Given the description of an element on the screen output the (x, y) to click on. 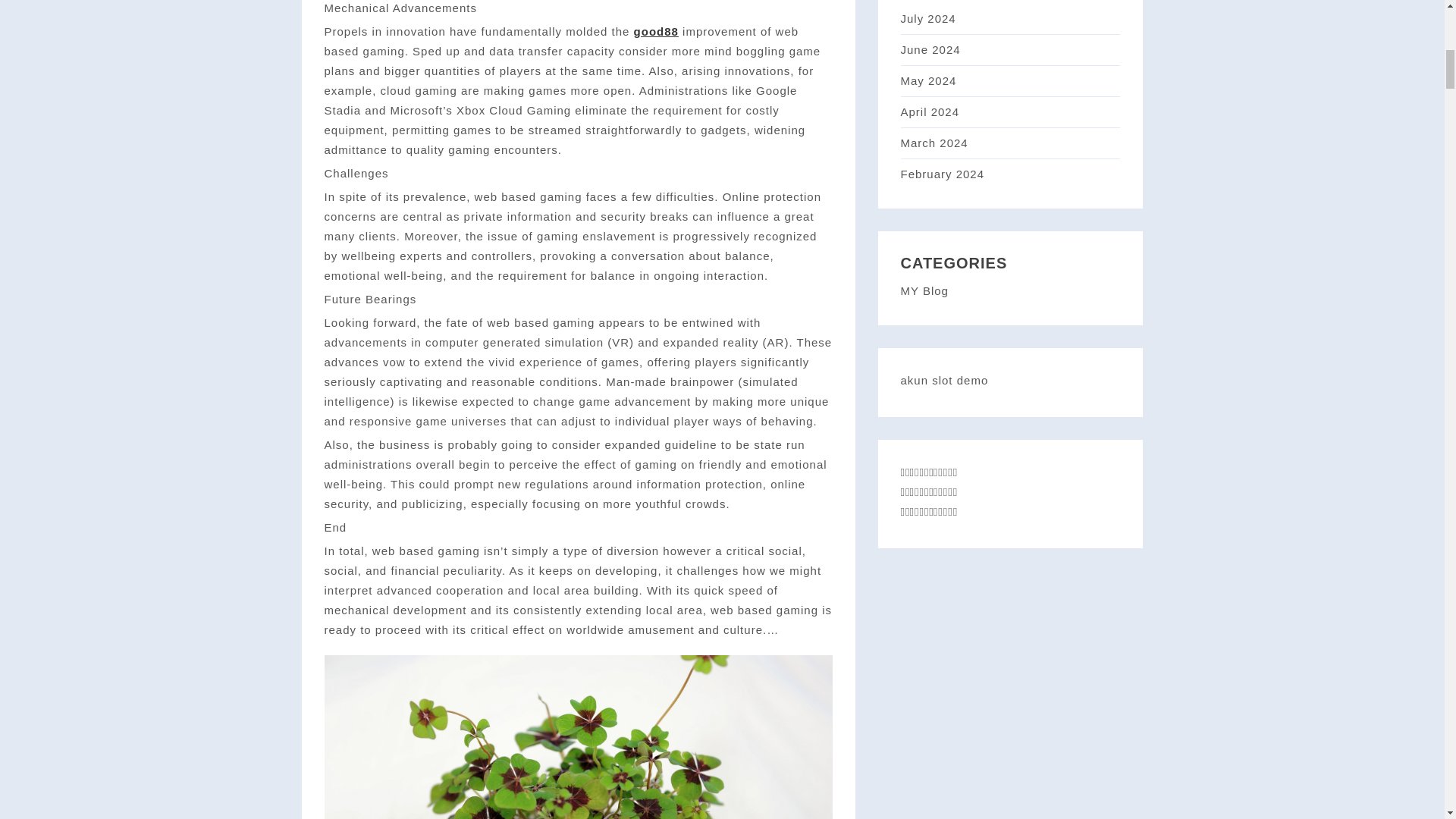
good88 (655, 31)
